Given the description of an element on the screen output the (x, y) to click on. 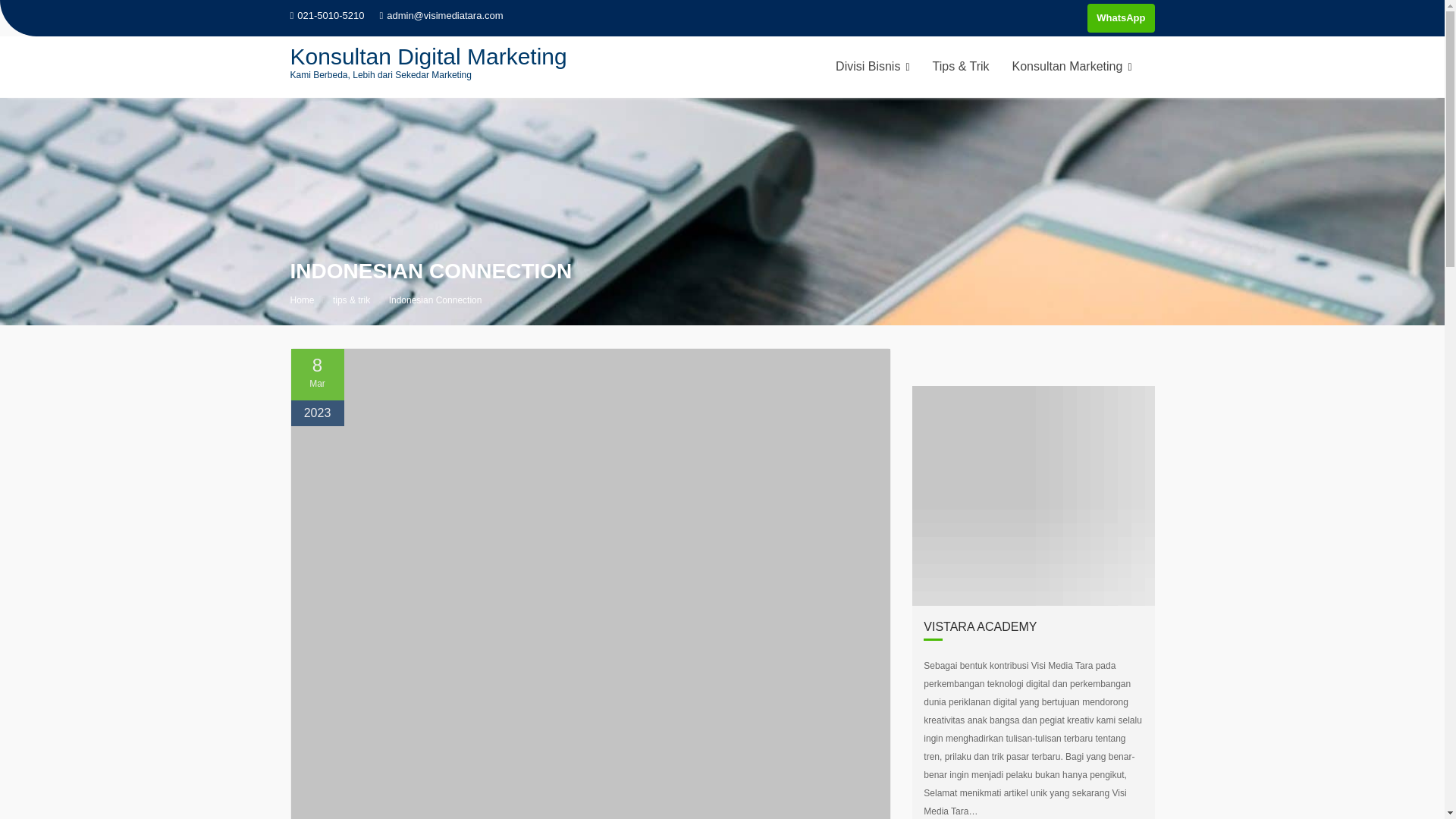
Konsultan Marketing (1071, 66)
WhatsApp (1120, 18)
Divisi Bisnis (872, 66)
Konsultan Digital Marketing (427, 56)
Konsultan Digital Marketing (427, 56)
